Given the description of an element on the screen output the (x, y) to click on. 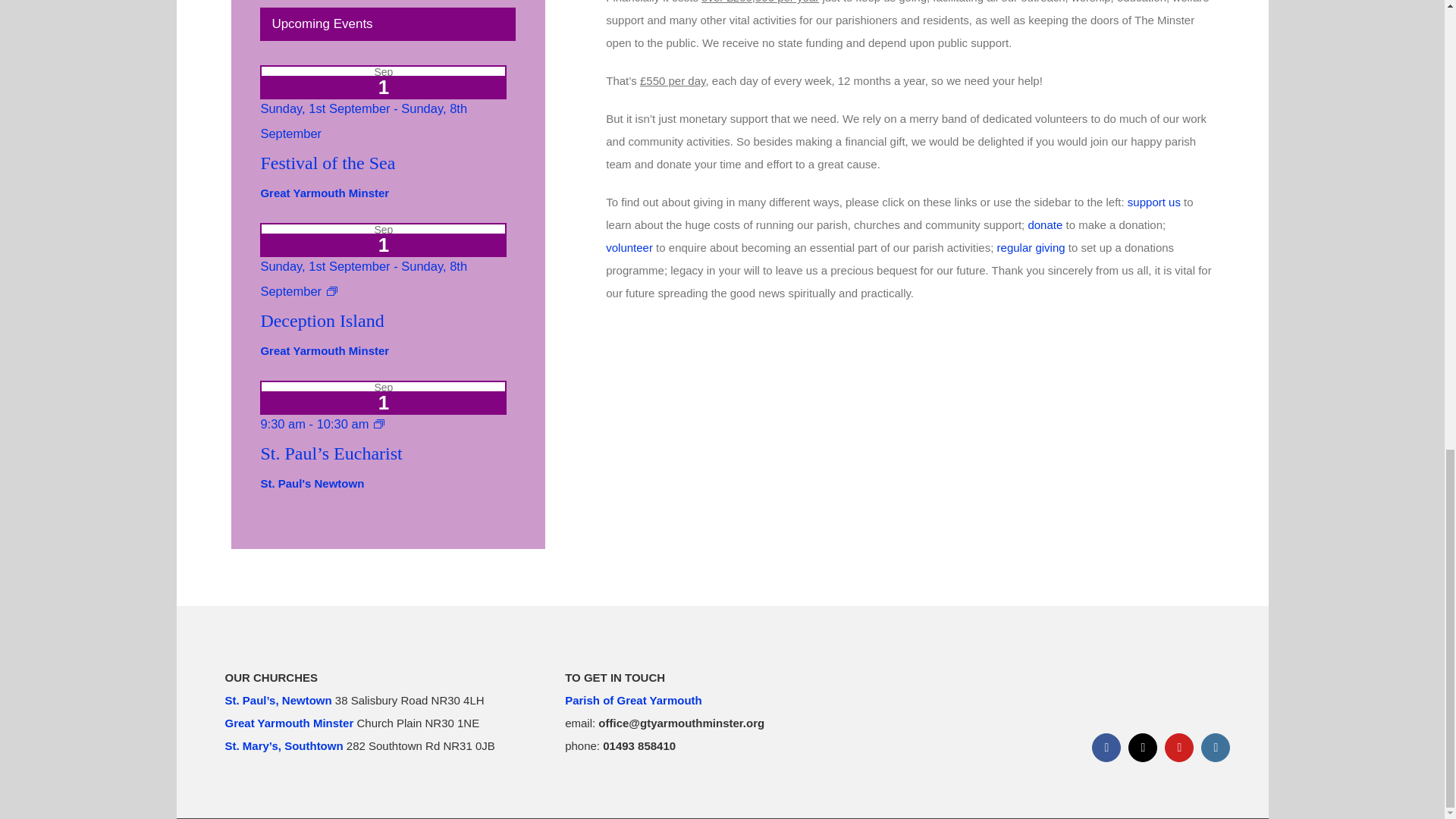
Deception Island (322, 320)
Event Series (379, 423)
Event Series (331, 290)
ec-award-buttons-2024-bronze (982, 711)
X (1142, 747)
Facebook (1106, 747)
YouTube (1178, 747)
parish-logo (1169, 690)
Festival of the Sea (327, 162)
